Given the description of an element on the screen output the (x, y) to click on. 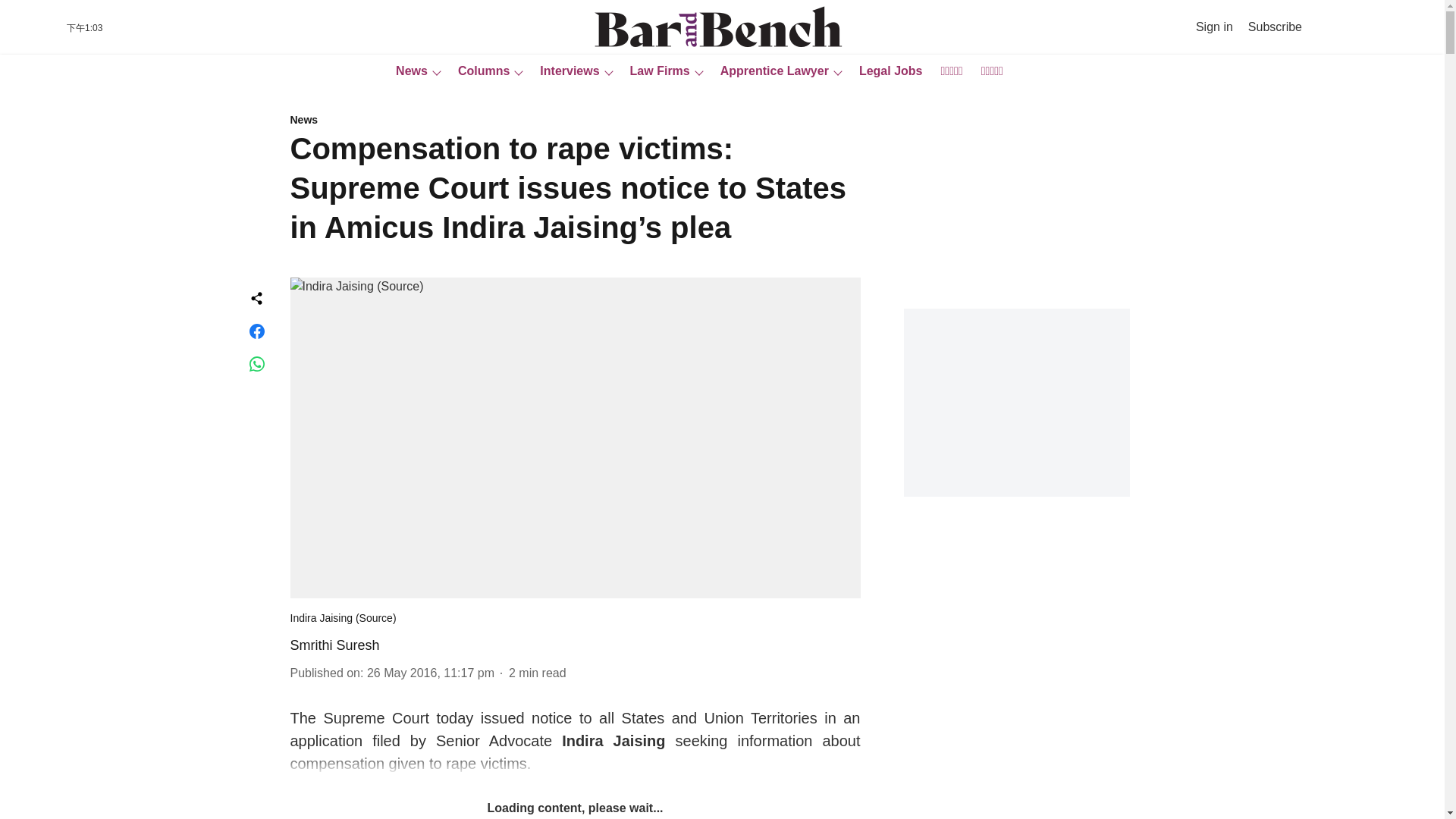
Columns (478, 71)
Legal Jobs (886, 71)
Apprentice Lawyer (769, 71)
News (407, 71)
Law Firms (655, 71)
Smrithi Suresh (333, 645)
2016-05-26 15:17 (430, 672)
Interviews (564, 71)
News (574, 120)
